Given the description of an element on the screen output the (x, y) to click on. 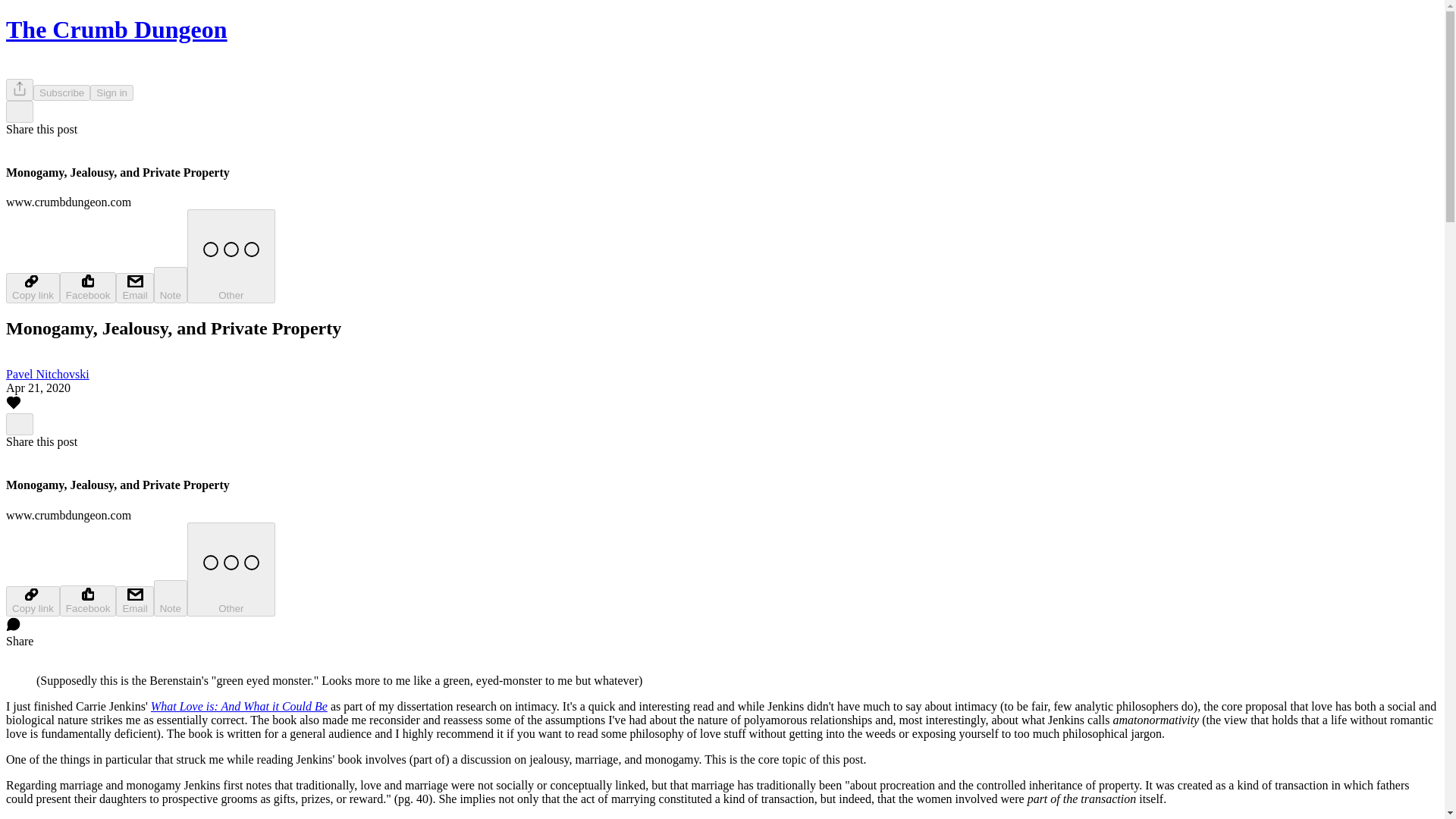
Facebook (87, 287)
Email (134, 601)
Sign in (111, 92)
The Crumb Dungeon (116, 29)
Pavel Nitchovski (46, 373)
Note (170, 284)
Copy link (32, 287)
Facebook (87, 600)
Email (134, 287)
Other (231, 256)
Subscribe (61, 92)
Copy link (32, 601)
Other (231, 569)
What Love is: And What it Could Be (239, 706)
Note (170, 597)
